Given the description of an element on the screen output the (x, y) to click on. 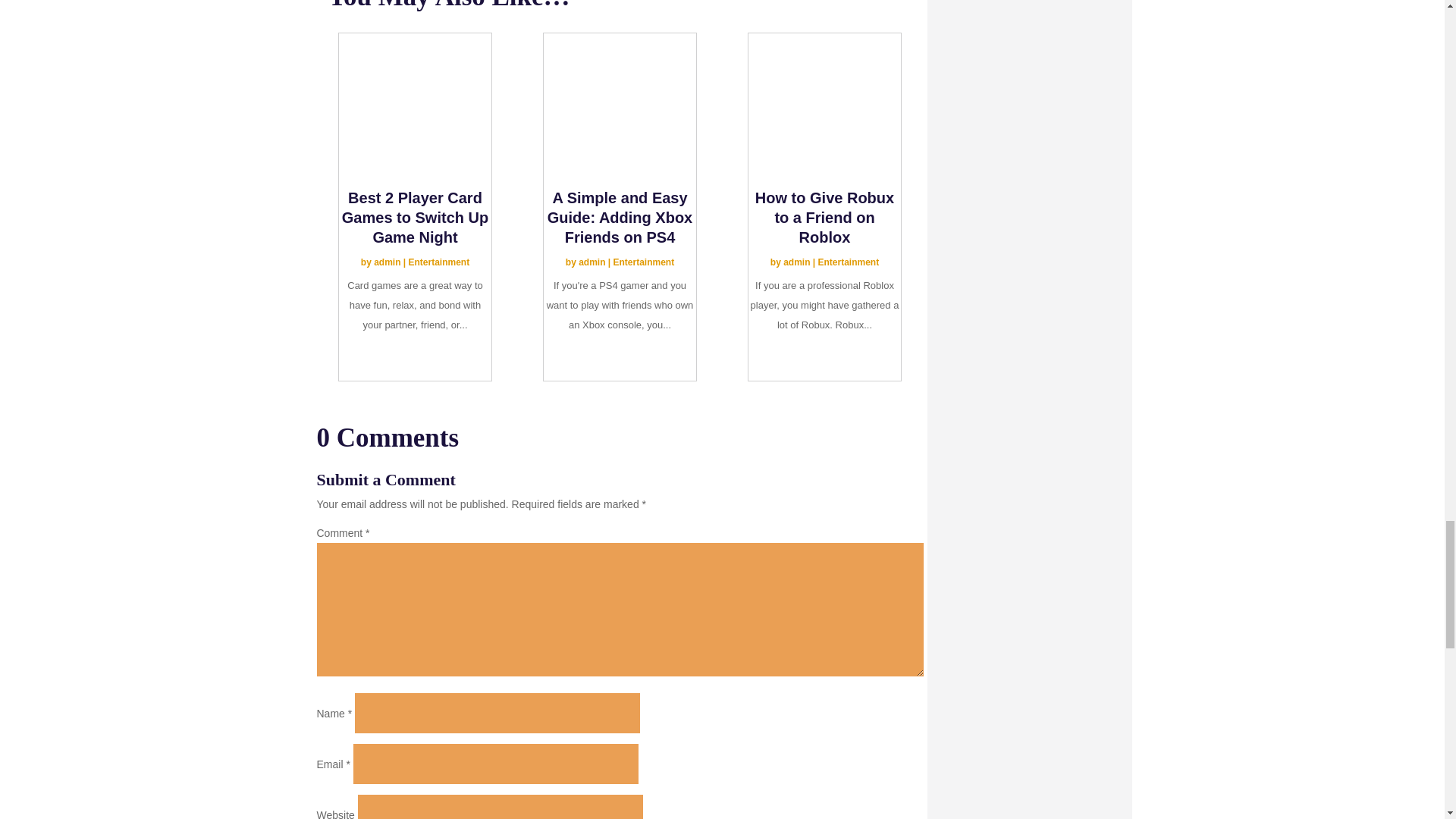
Best 2 Player Card Games to Switch Up Game Night (414, 217)
